Given the description of an element on the screen output the (x, y) to click on. 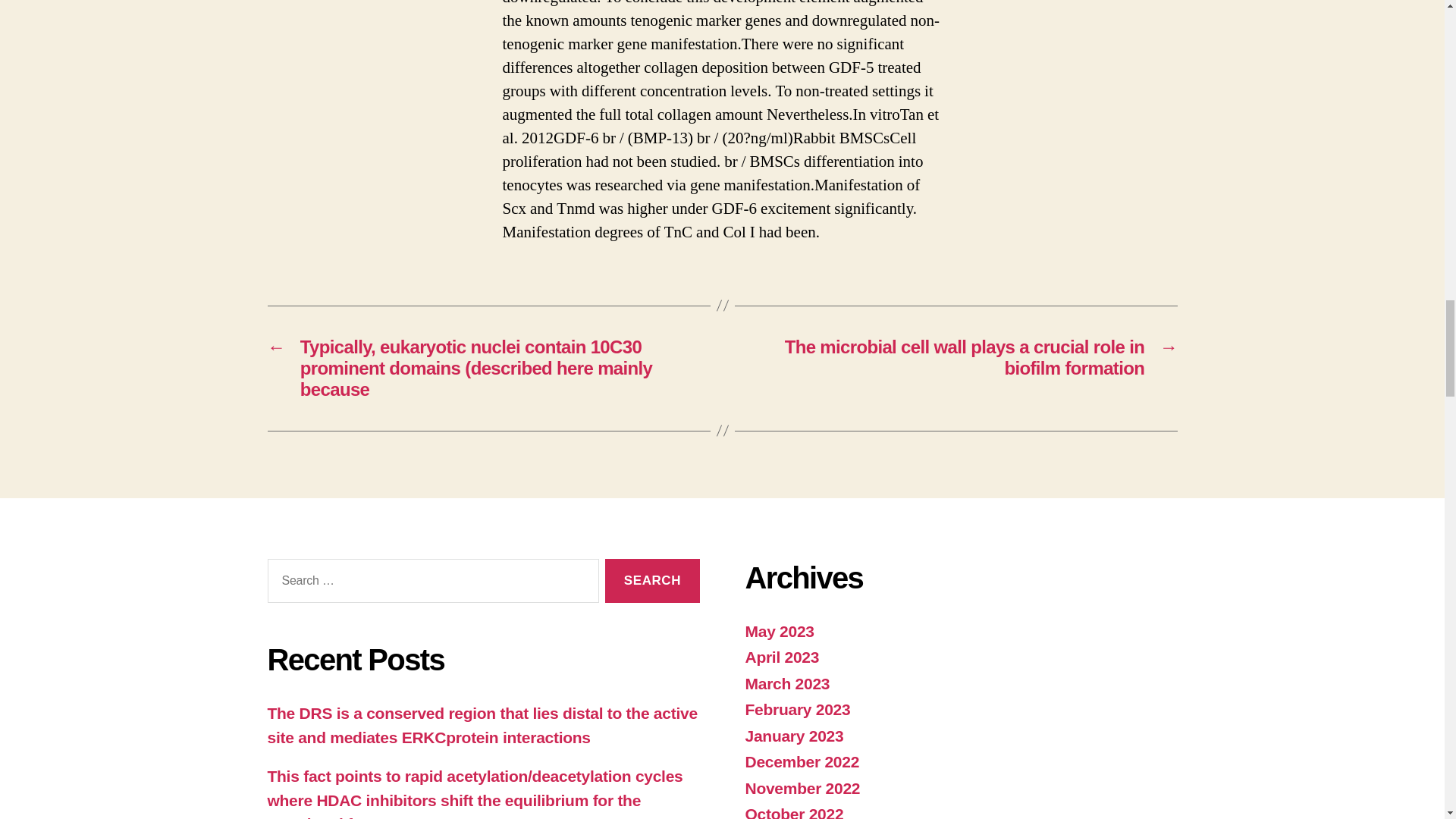
May 2023 (778, 630)
January 2023 (793, 735)
February 2023 (797, 709)
November 2022 (802, 787)
Search (651, 580)
March 2023 (786, 683)
December 2022 (801, 761)
Search (651, 580)
April 2023 (781, 656)
